Given the description of an element on the screen output the (x, y) to click on. 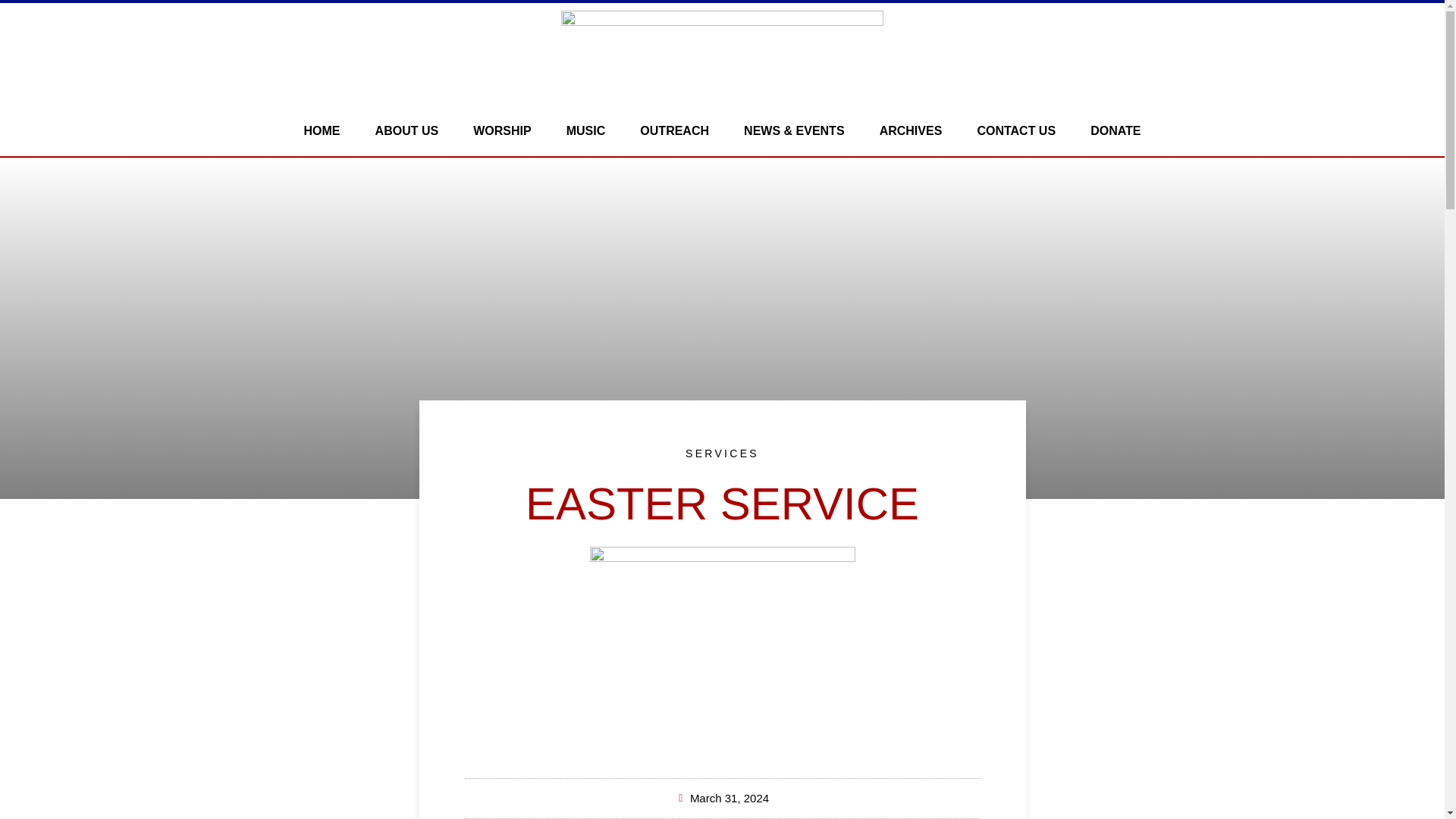
ARCHIVES (910, 130)
ABOUT US (407, 130)
MUSIC (585, 130)
HOME (322, 130)
WORSHIP (501, 130)
DONATE (1115, 130)
CONTACT US (1016, 130)
SERVICES (721, 453)
OUTREACH (674, 130)
